Given the description of an element on the screen output the (x, y) to click on. 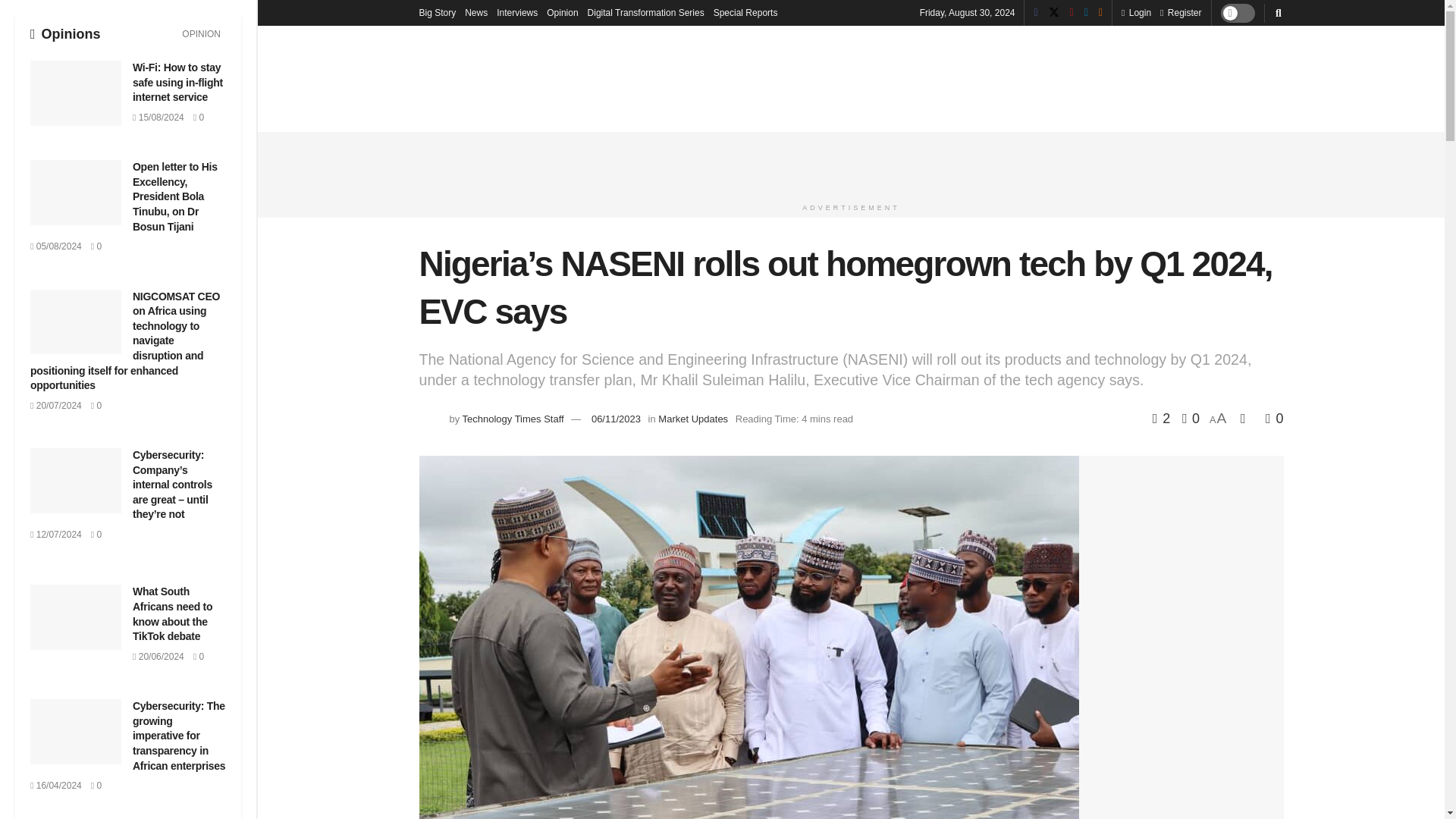
0 (95, 245)
OPINION (200, 33)
0 (198, 656)
What South Africans need to know about the TikTok debate (172, 613)
0 (198, 117)
0 (95, 785)
Wi-Fi: How to stay safe using in-flight internet service (177, 82)
Opinions (65, 33)
